Given the description of an element on the screen output the (x, y) to click on. 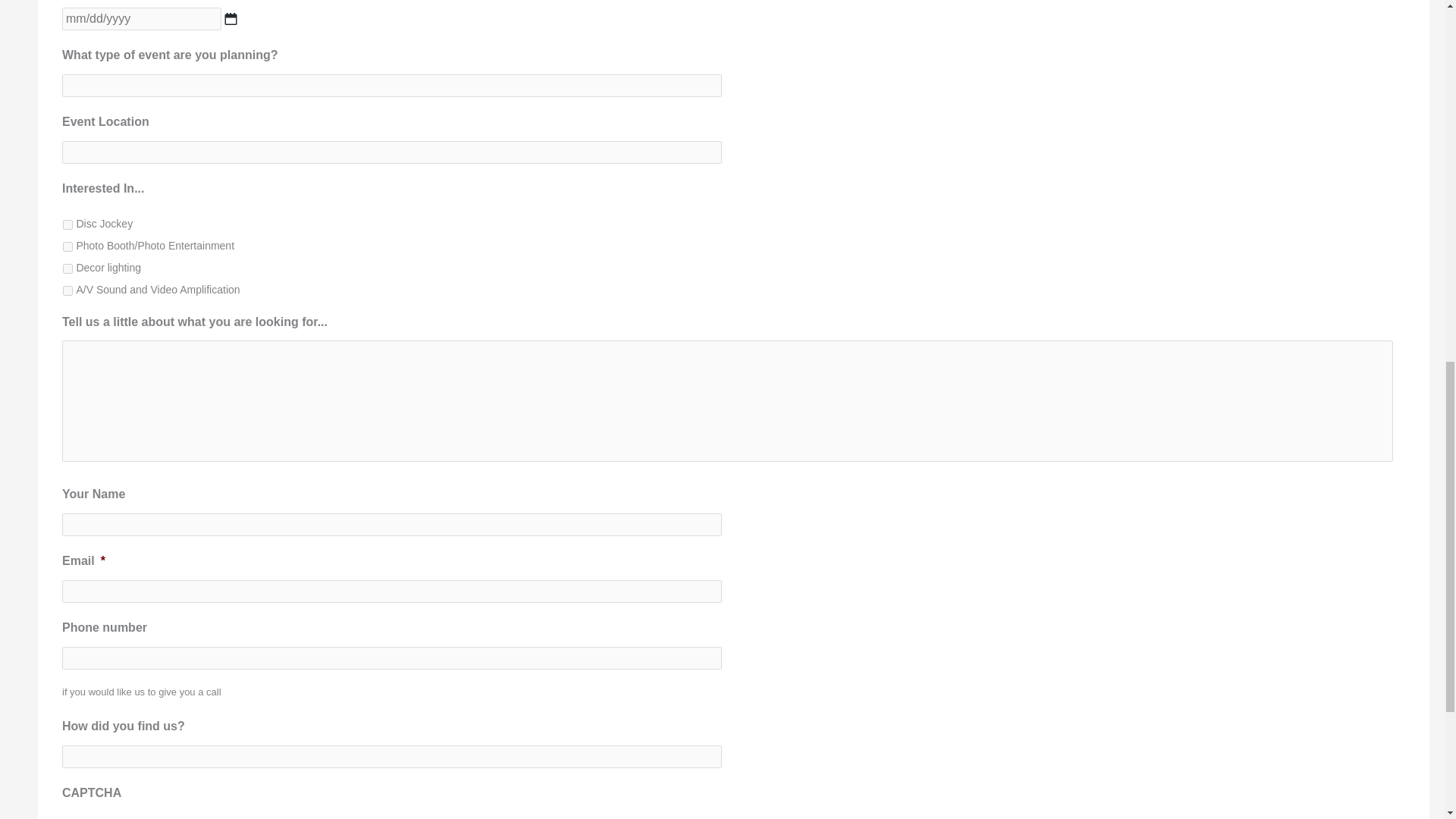
Decor lighting (67, 268)
Disc Jockey (67, 225)
Select date (230, 19)
